Given the description of an element on the screen output the (x, y) to click on. 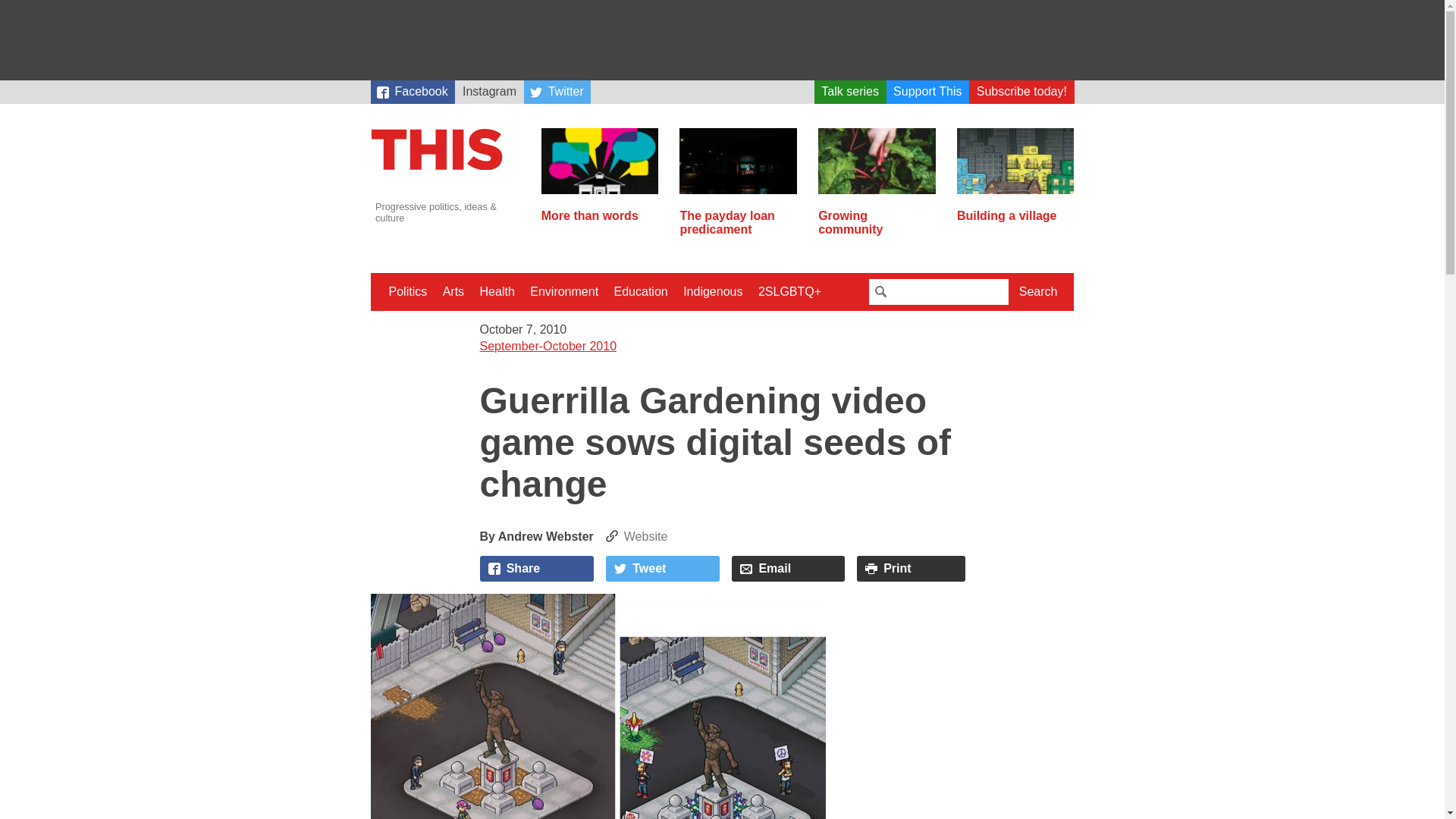
Support This (927, 92)
Building a village (1015, 208)
More than words (600, 208)
Share (536, 568)
Search (1038, 291)
Growing community (877, 215)
Website (636, 535)
Talk series (849, 92)
Arts (453, 291)
Email (788, 568)
Indigenous (712, 291)
Print (911, 568)
Subscribe today! (1021, 92)
Tweet (662, 568)
Environment (564, 291)
